Given the description of an element on the screen output the (x, y) to click on. 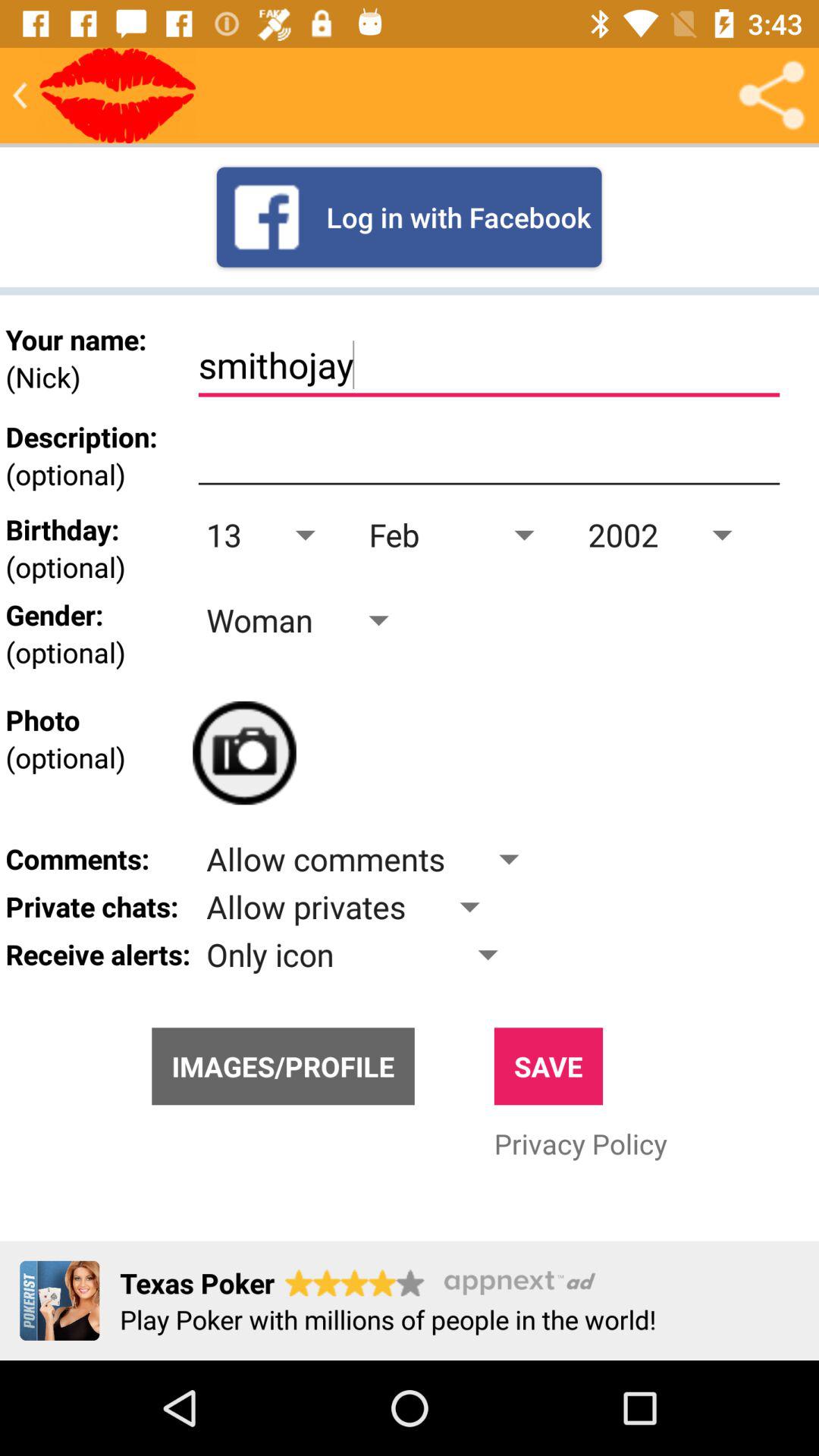
go to back (19, 95)
